Given the description of an element on the screen output the (x, y) to click on. 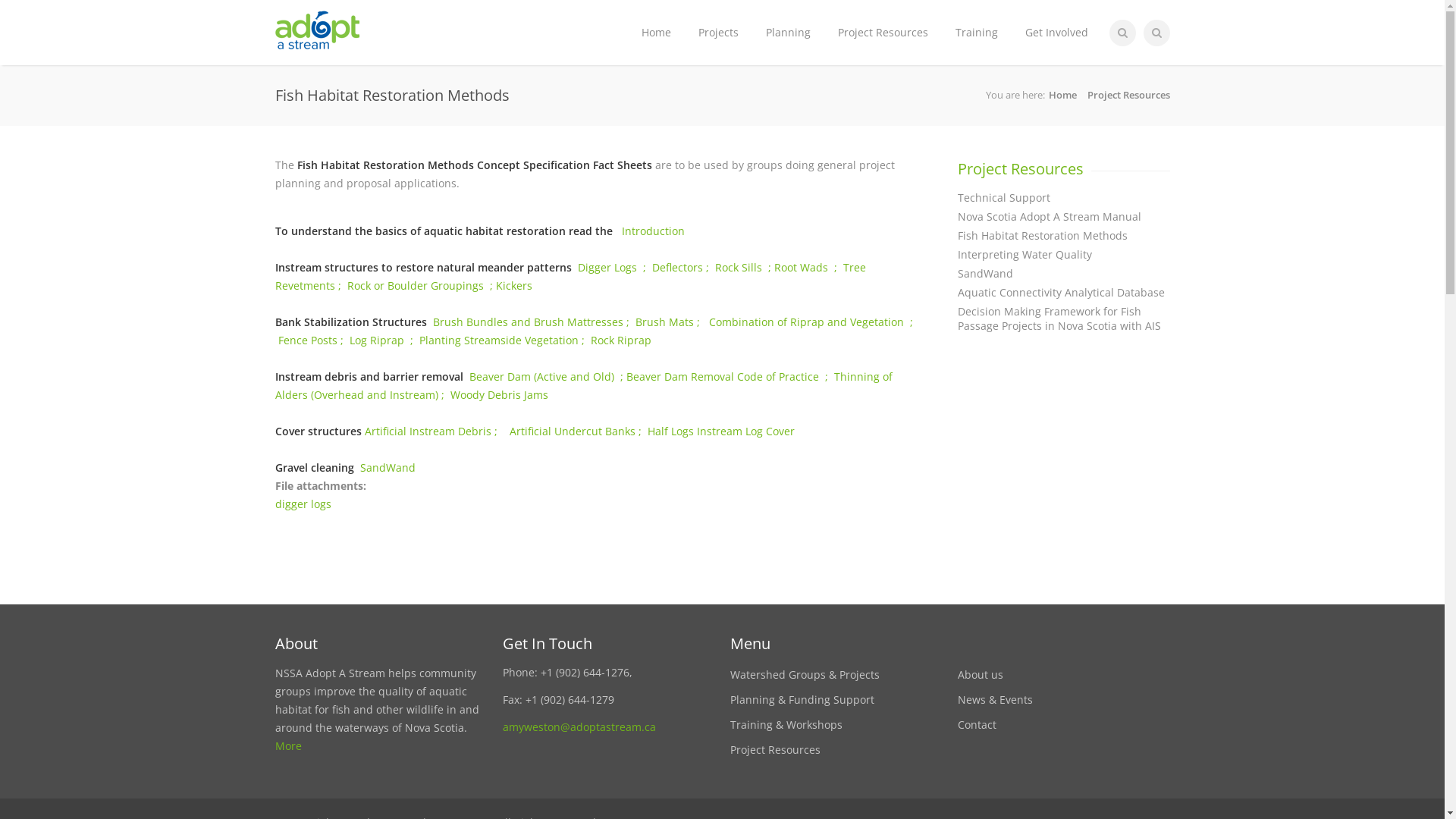
Interpreting Water Quality Element type: text (1063, 253)
Rock Riprap Element type: text (619, 339)
Root Wads  ;  Element type: text (807, 267)
Training & Workshops Element type: text (785, 724)
Project Resources Element type: text (1019, 168)
Artificial Instream Debris ; Element type: text (430, 430)
Kickers Element type: text (513, 285)
Introduction  Element type: text (654, 230)
Beaver Dam (Active and Old)  ; Element type: text (546, 376)
Digger Logs  ;  Element type: text (614, 267)
Technical Support Element type: text (1063, 197)
Tree Revetments ;  Element type: text (569, 276)
Half Logs Instream Log Cover Element type: text (720, 430)
Project Resources Element type: text (882, 32)
Home Element type: text (655, 32)
Woody Debris Jams Element type: text (499, 394)
Planting Streamside Vegetation ;  Element type: text (503, 339)
Rock Sills  ; Element type: text (743, 267)
Planning Element type: text (788, 32)
Projects Element type: text (717, 32)
Thinning of Alders (Overhead and Instream) ;  Element type: text (582, 385)
SandWand Element type: text (1063, 272)
Planning & Funding Support Element type: text (801, 699)
Project Resources Element type: text (774, 749)
Watershed Groups & Projects Element type: text (803, 674)
amyweston@adoptastream.ca Element type: text (578, 726)
More Element type: text (287, 745)
Contact Element type: text (976, 724)
Skip to main content Element type: text (52, 65)
Home Element type: text (1062, 94)
Fence Posts ;  Element type: text (312, 339)
Get Involved Element type: text (1056, 32)
Beaver Dam Removal Code of Practice  ;  Element type: text (730, 376)
Aquatic Connectivity Analytical Database Element type: text (1063, 291)
Log Riprap  ;  Element type: text (383, 339)
Brush Mats ;   Element type: text (672, 321)
Rock or Boulder Groupings  ; Element type: text (421, 285)
SandWand Element type: text (386, 467)
News & Events Element type: text (994, 699)
About us Element type: text (979, 674)
Project Resources Element type: text (1128, 94)
Fish Habitat Restoration Methods Element type: text (1063, 234)
    Artificial Undercut Banks ;  Element type: text (572, 430)
Brush Bundles and Brush Mattresses ;  Element type: text (533, 321)
Deflectors ;  Element type: text (683, 267)
Nova Scotia Adopt A Stream Manual Element type: text (1063, 216)
Combination of Riprap and Vegetation  ;   Element type: text (593, 330)
digger logs Element type: text (302, 503)
Training Element type: text (976, 32)
